Given the description of an element on the screen output the (x, y) to click on. 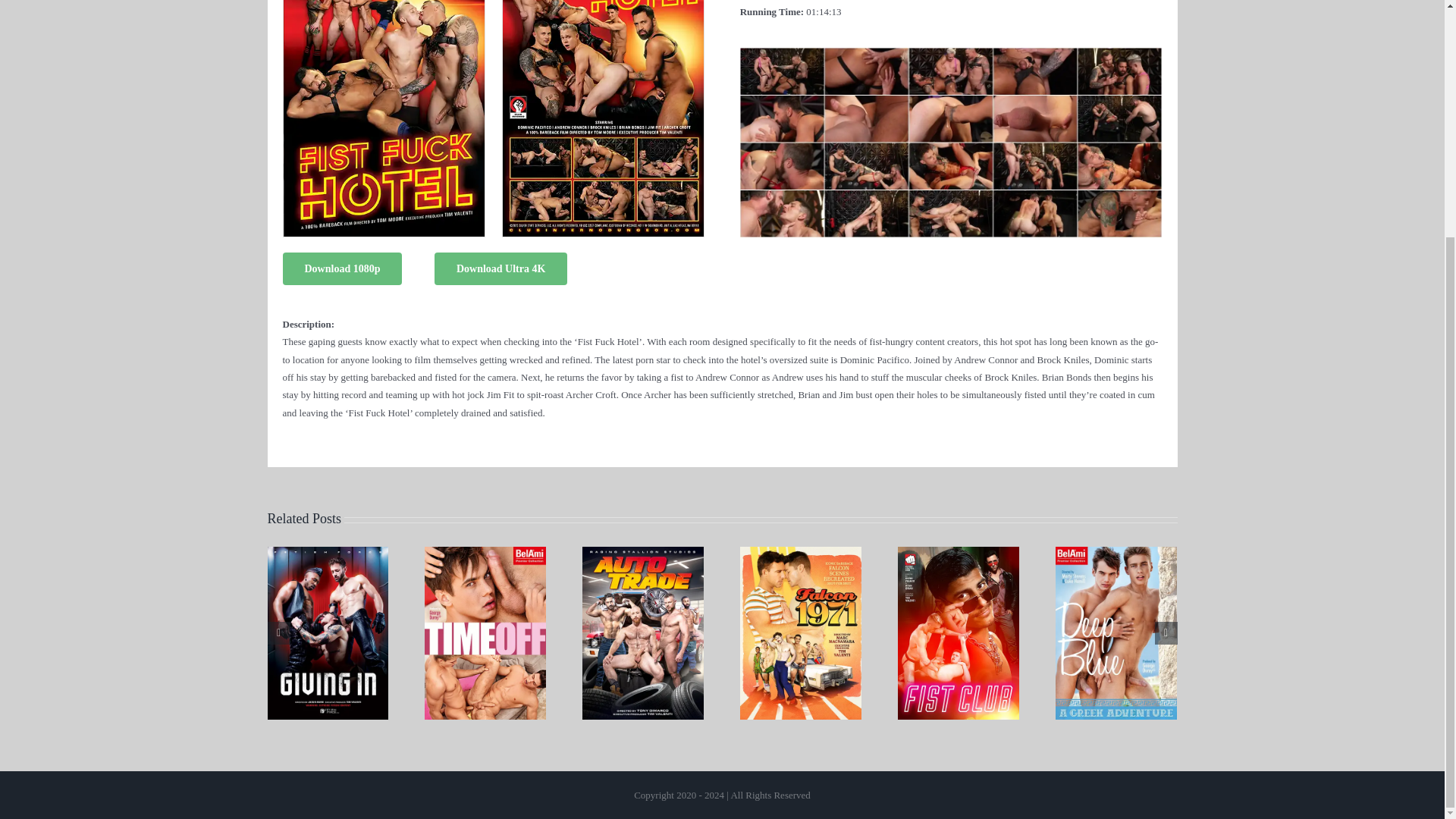
Download Ultra 4K (500, 268)
Download 1080p (341, 268)
Fist Fuck Hotel (950, 52)
